Given the description of an element on the screen output the (x, y) to click on. 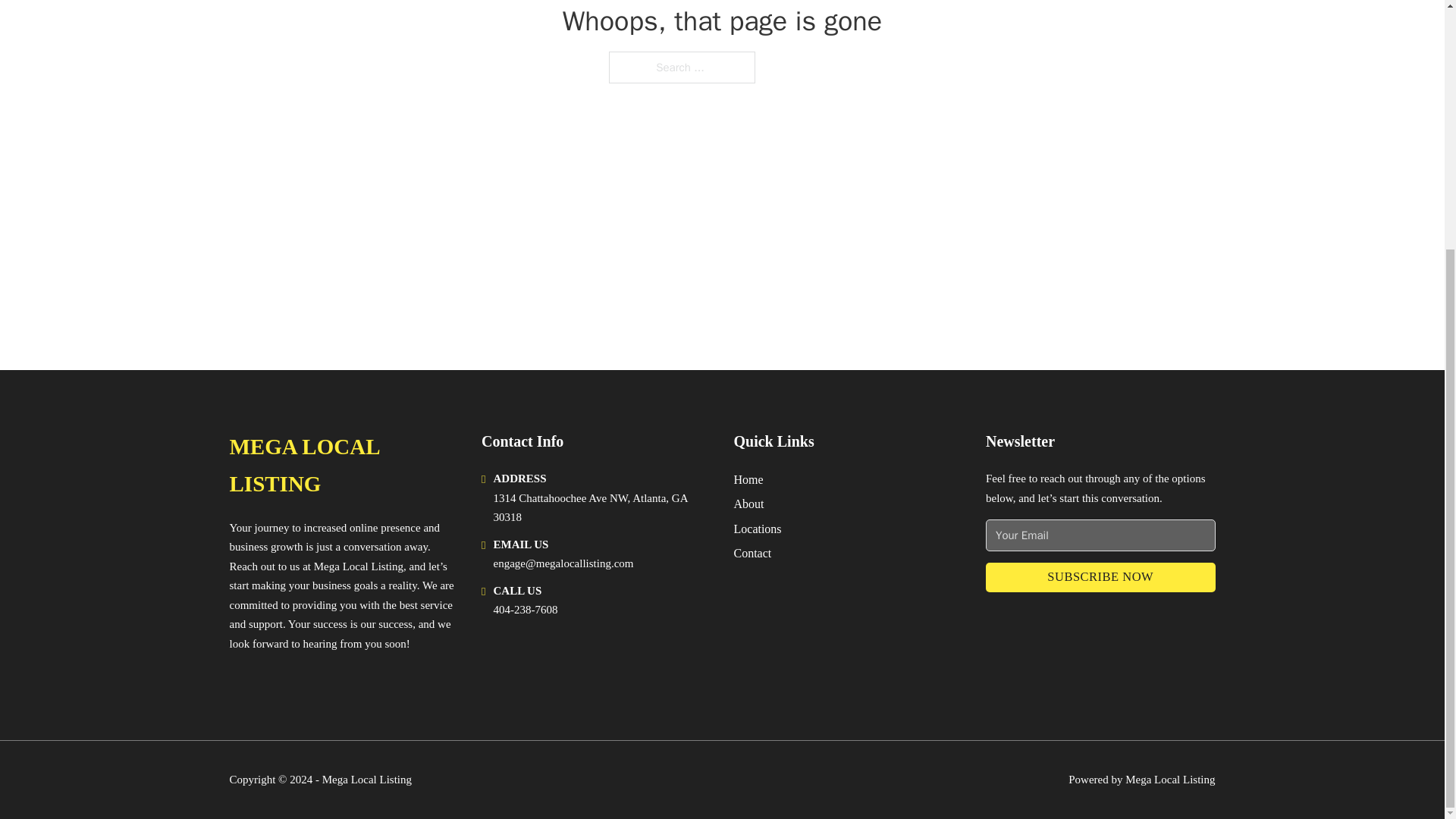
Home (747, 479)
SUBSCRIBE NOW (1100, 577)
Contact (752, 552)
About (748, 503)
Locations (757, 528)
MEGA LOCAL LISTING (343, 465)
404-238-7608 (525, 609)
